Given the description of an element on the screen output the (x, y) to click on. 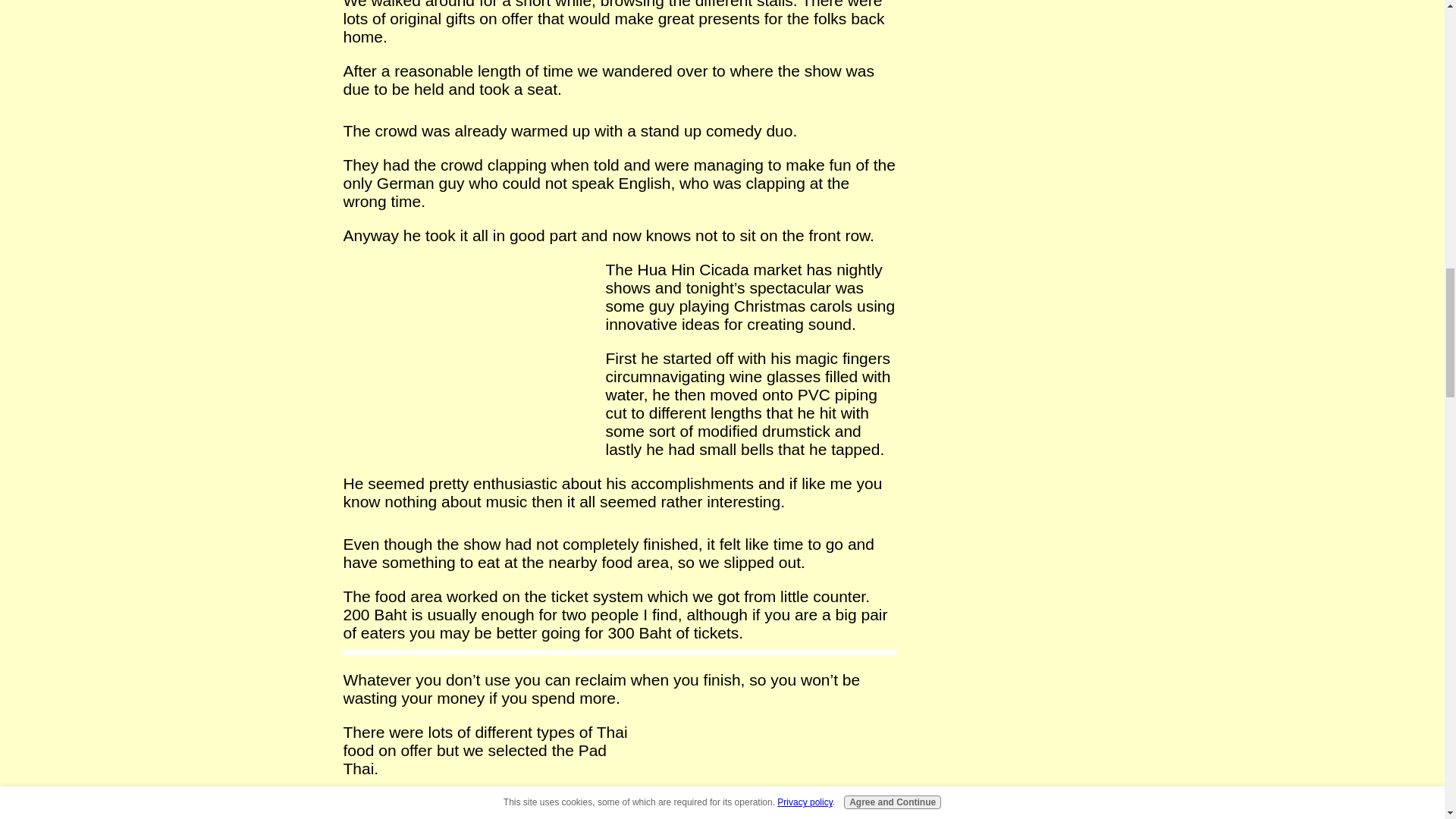
Cars at the Cicada Market (468, 352)
